Given the description of an element on the screen output the (x, y) to click on. 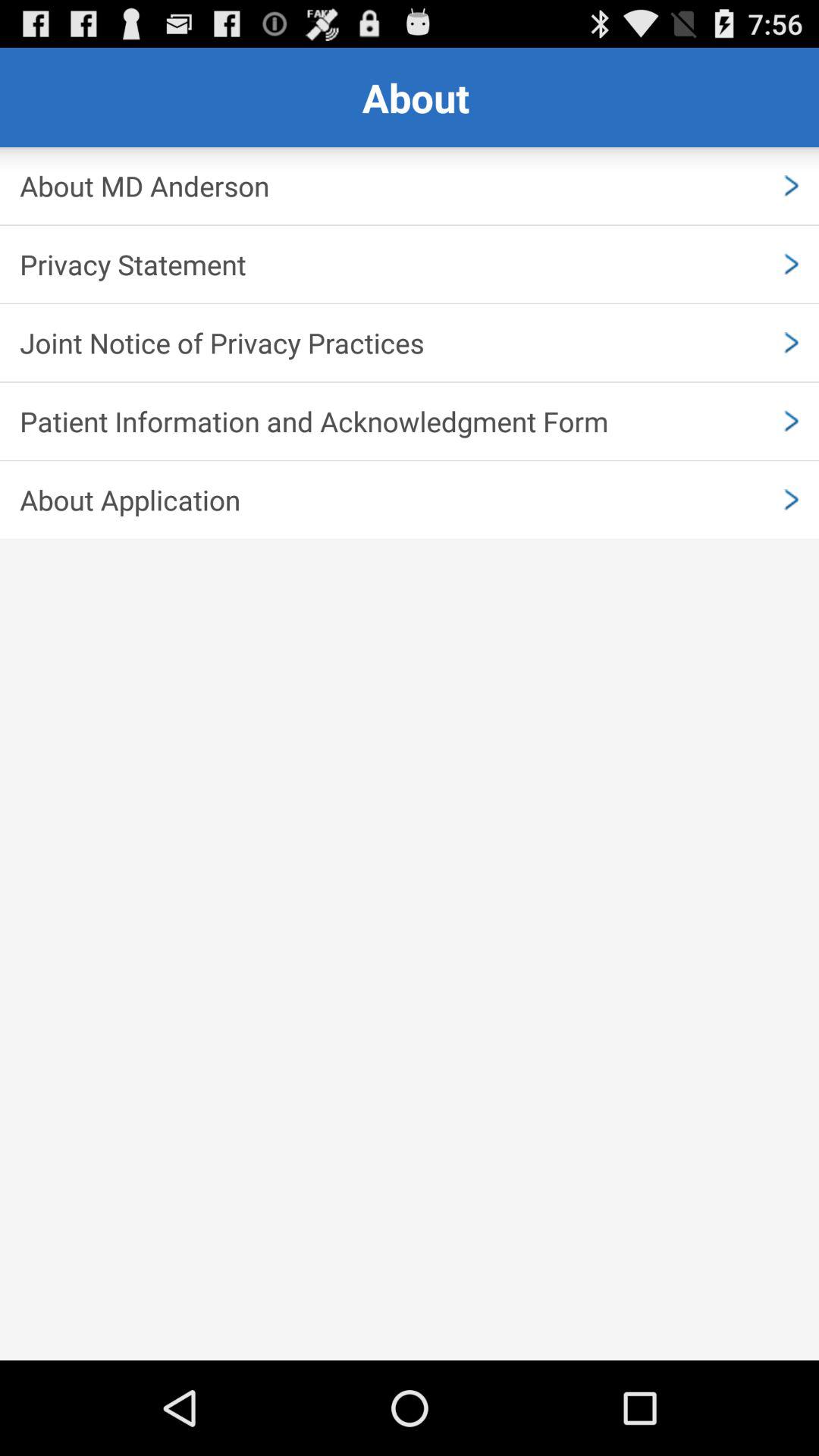
click the item below the about md anderson (409, 264)
